Given the description of an element on the screen output the (x, y) to click on. 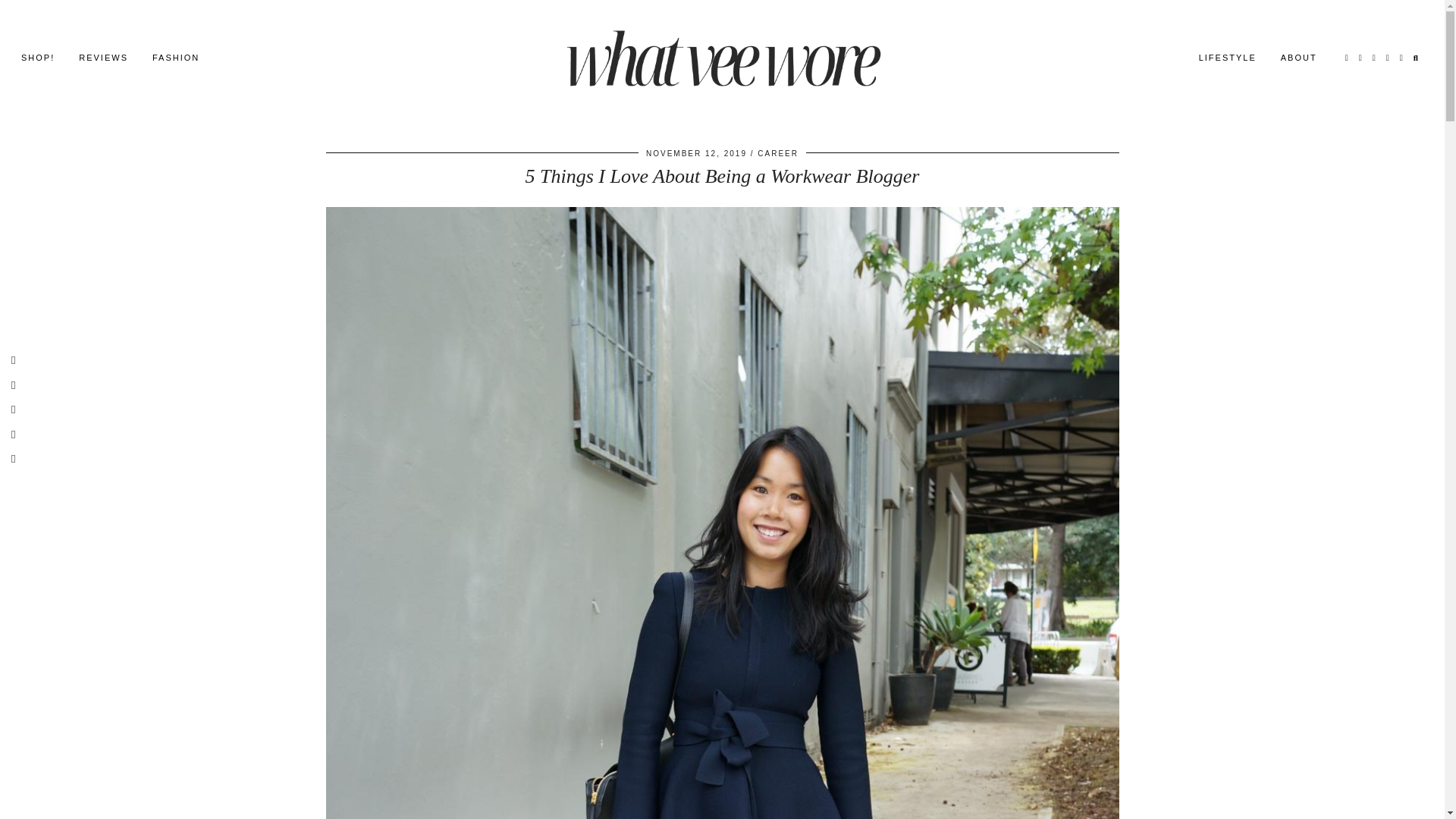
whatveewore (721, 56)
